Given the description of an element on the screen output the (x, y) to click on. 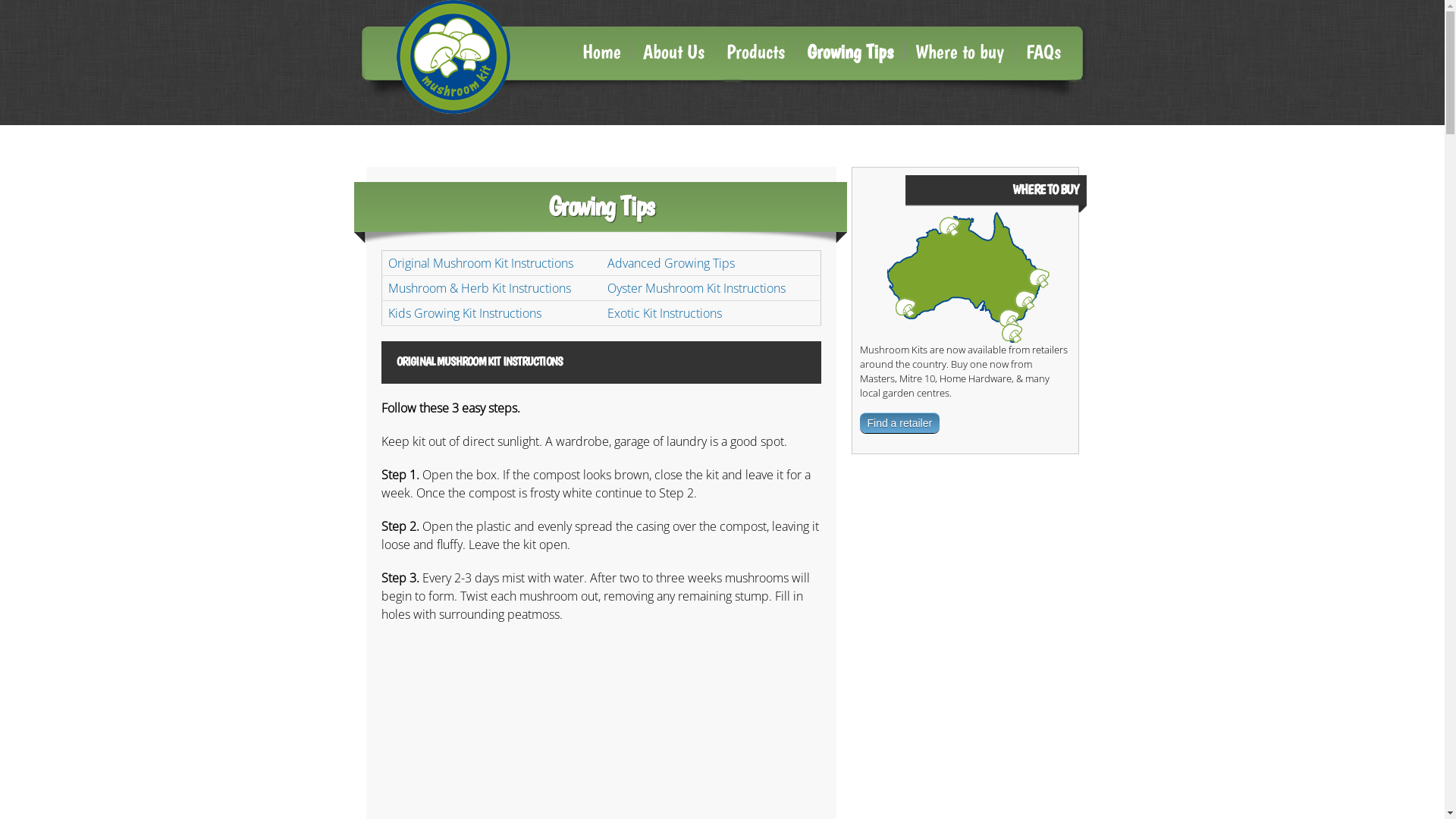
Products Element type: text (755, 51)
Mushroom & Herb Kit Instructions Element type: text (479, 287)
Exotic Kit Instructions Element type: text (663, 312)
Find a retailer Element type: text (899, 422)
Home Element type: text (601, 51)
FAQs Element type: text (1042, 51)
Original Mushroom Kit Instructions Element type: text (480, 262)
Growing Tips Element type: text (850, 51)
Kids Growing Kit Instructions Element type: text (464, 312)
About Us Element type: text (673, 51)
Advanced Growing Tips Element type: text (670, 262)
Oyster Mushroom Kit Instructions Element type: text (695, 287)
Skip to main content Element type: text (686, 1)
Where to buy Element type: text (958, 51)
